Given the description of an element on the screen output the (x, y) to click on. 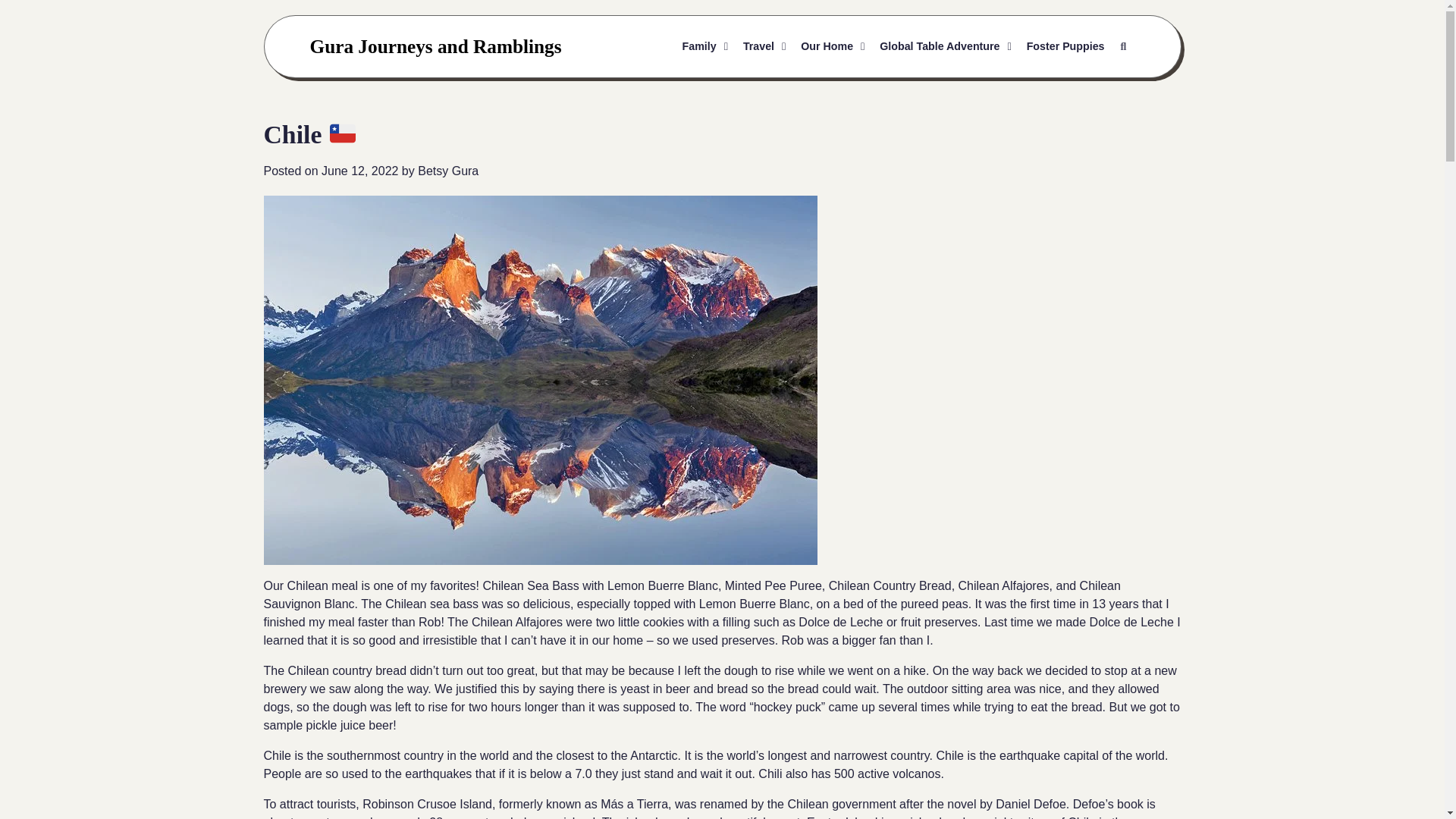
Search (1123, 47)
Travel (764, 46)
Gura Journeys and Ramblings (434, 46)
Family (705, 46)
Global Table Adventure (944, 46)
Our Home (832, 46)
